Given the description of an element on the screen output the (x, y) to click on. 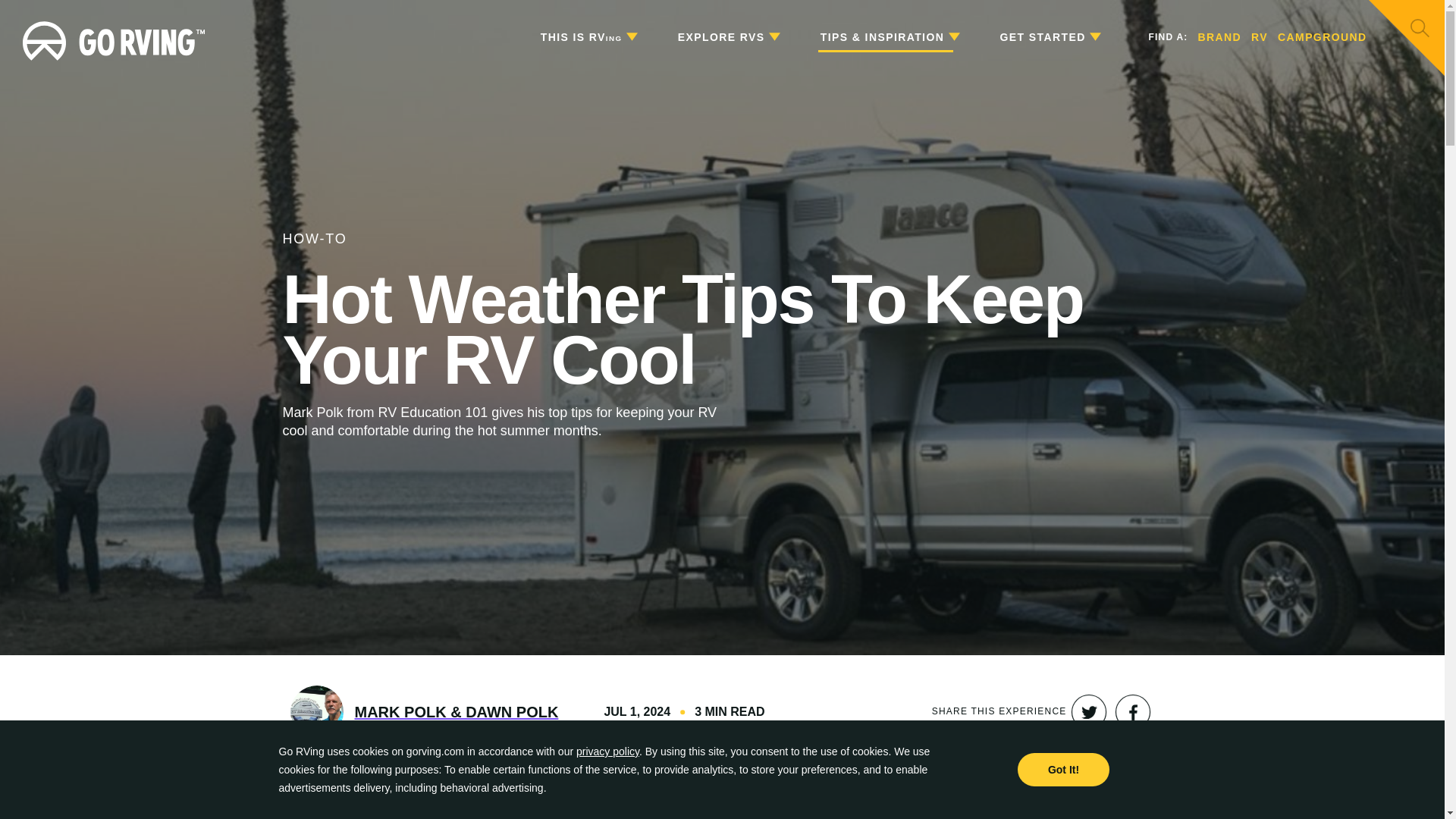
Got It! (1063, 769)
GET STARTED (1049, 38)
GoRVing (114, 37)
CAMPGROUND (1322, 38)
RV (1259, 38)
Search (1419, 27)
EXPLORE RVS (728, 38)
THIS IS RVING (588, 38)
BRAND (1219, 38)
privacy policy (607, 751)
